Given the description of an element on the screen output the (x, y) to click on. 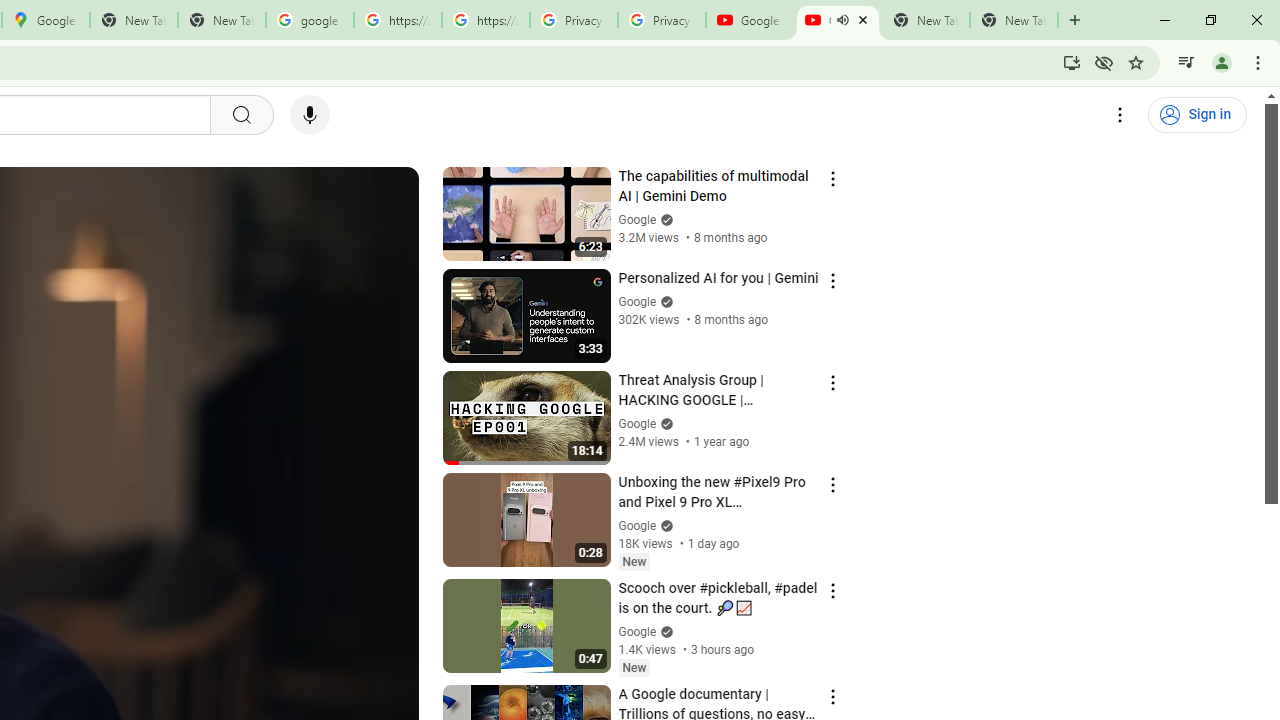
Action menu (832, 696)
https://scholar.google.com/ (397, 20)
Verified (664, 631)
Settings (1119, 115)
Settings (1119, 115)
New Tab (1014, 20)
